Given the description of an element on the screen output the (x, y) to click on. 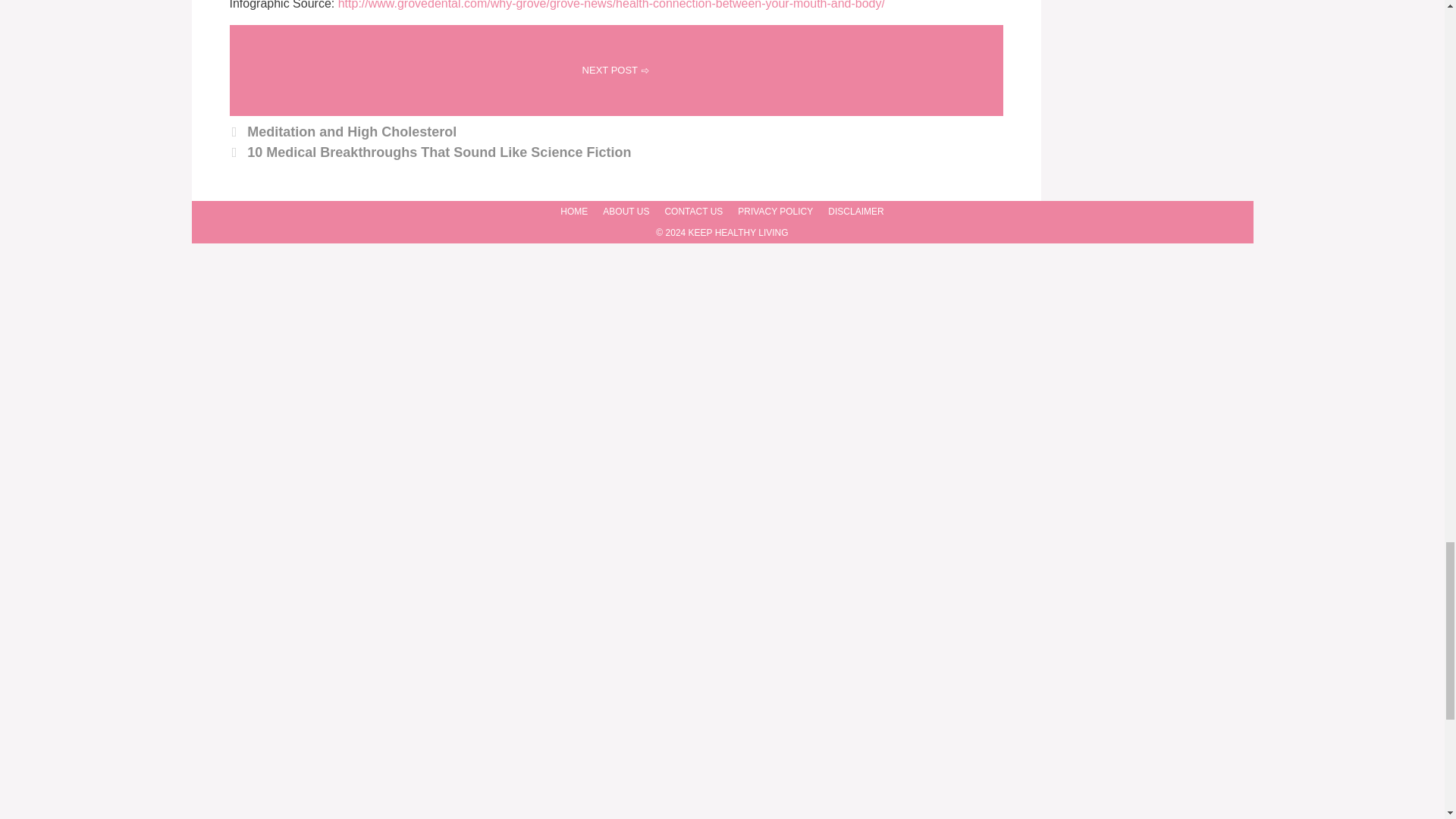
HOME (574, 211)
10 Medical Breakthroughs That Sound Like Science Fiction (438, 151)
PRIVACY POLICY (775, 211)
Meditation and High Cholesterol (352, 131)
CONTACT US (692, 211)
DISCLAIMER (855, 211)
ABOUT US (625, 211)
